Given the description of an element on the screen output the (x, y) to click on. 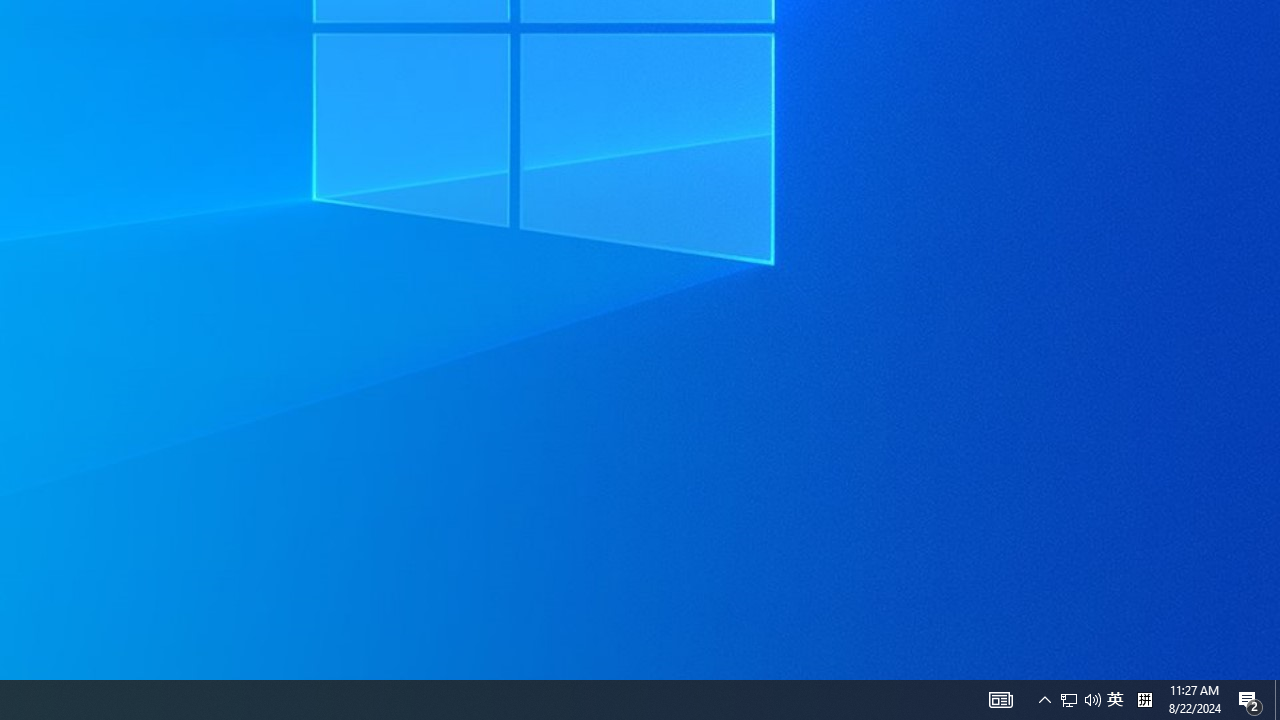
Tray Input Indicator - Chinese (Simplified, China) (1144, 699)
User Promoted Notification Area (1080, 699)
Notification Chevron (1044, 699)
Action Center, 2 new notifications (1250, 699)
AutomationID: 4105 (1000, 699)
Q2790: 100% (1092, 699)
Show desktop (1115, 699)
